Given the description of an element on the screen output the (x, y) to click on. 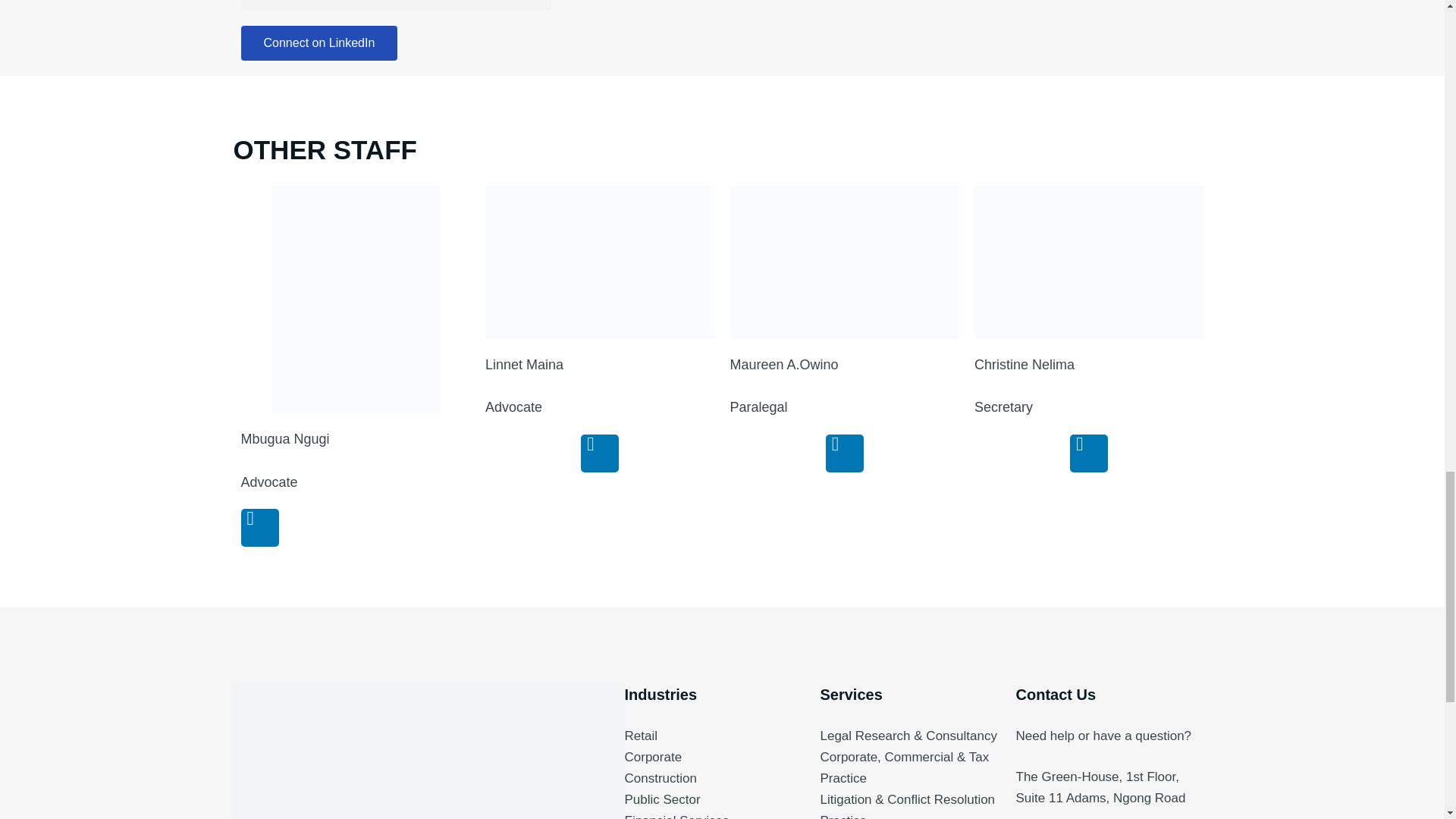
Connect on LinkedIn (319, 42)
